Given the description of an element on the screen output the (x, y) to click on. 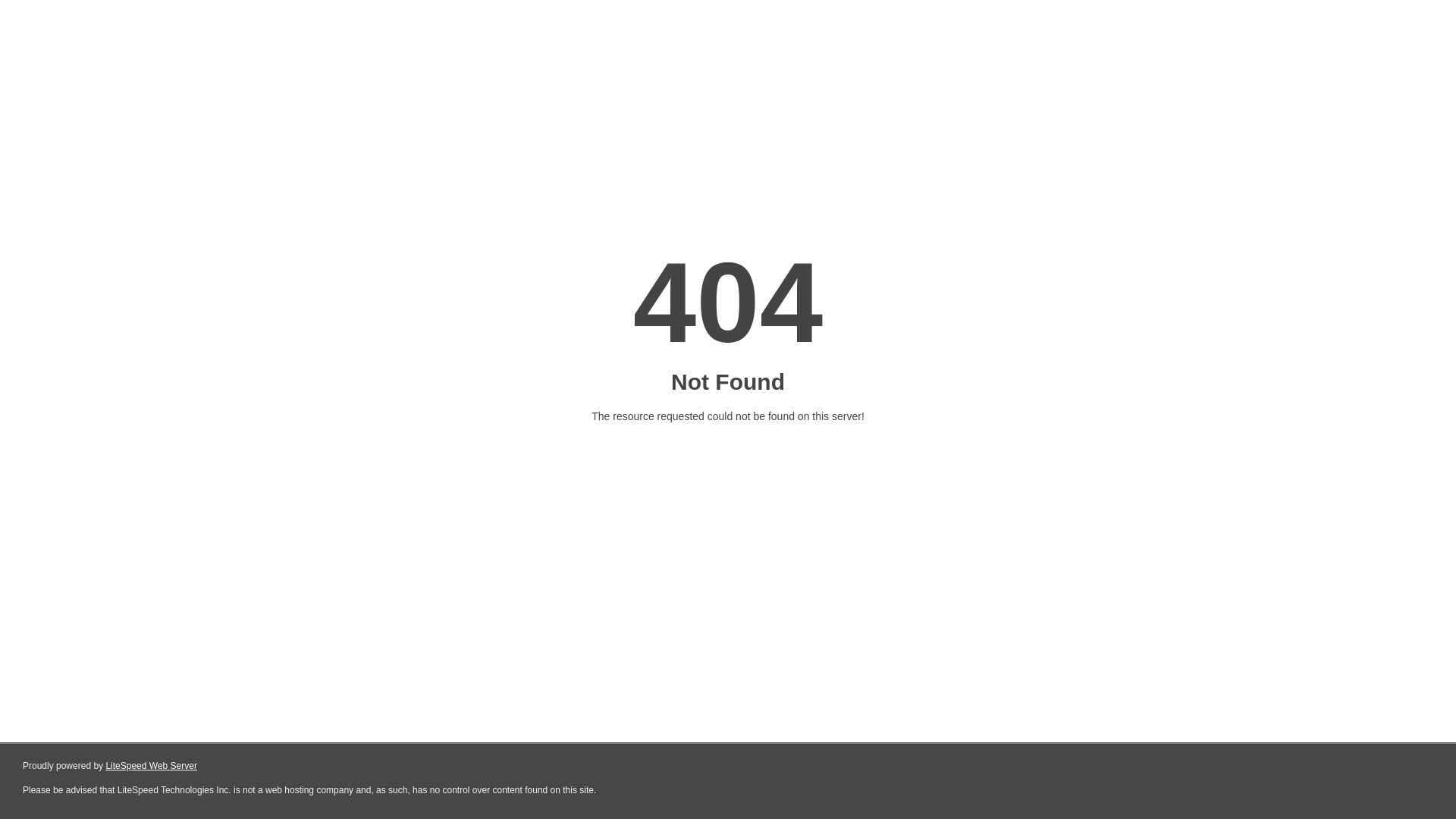
LiteSpeed Web Server Element type: text (151, 765)
